Given the description of an element on the screen output the (x, y) to click on. 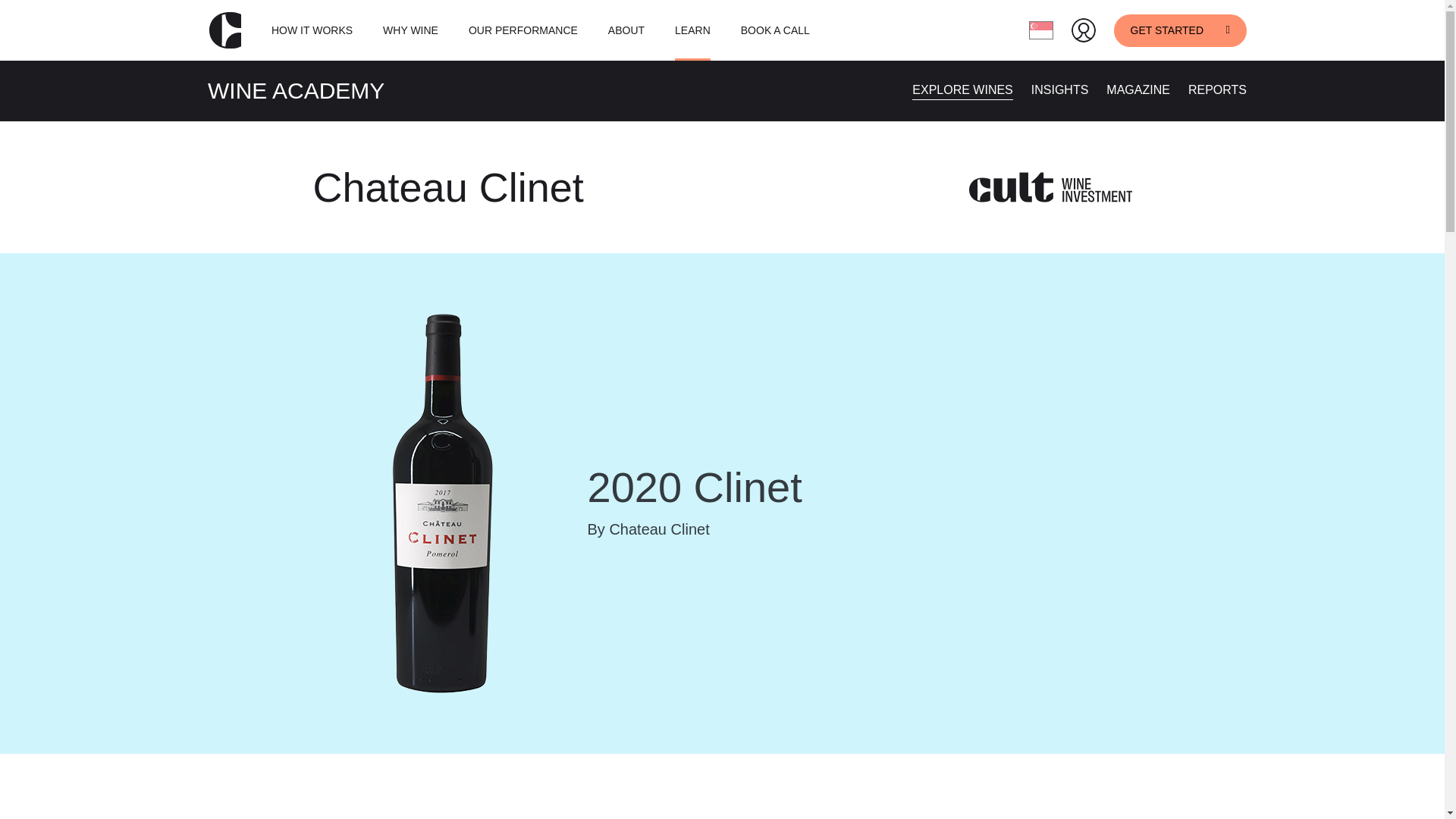
OUR PERFORMANCE (523, 30)
EXPLORE WINES (961, 90)
INSIGHTS (1059, 90)
MAGAZINE (1138, 90)
BOOK A CALL (775, 30)
GET STARTED (1179, 29)
WHY WINE (410, 30)
WINE ACADEMY (296, 90)
HOW IT WORKS (311, 30)
Chateau Clinet (448, 186)
